Given the description of an element on the screen output the (x, y) to click on. 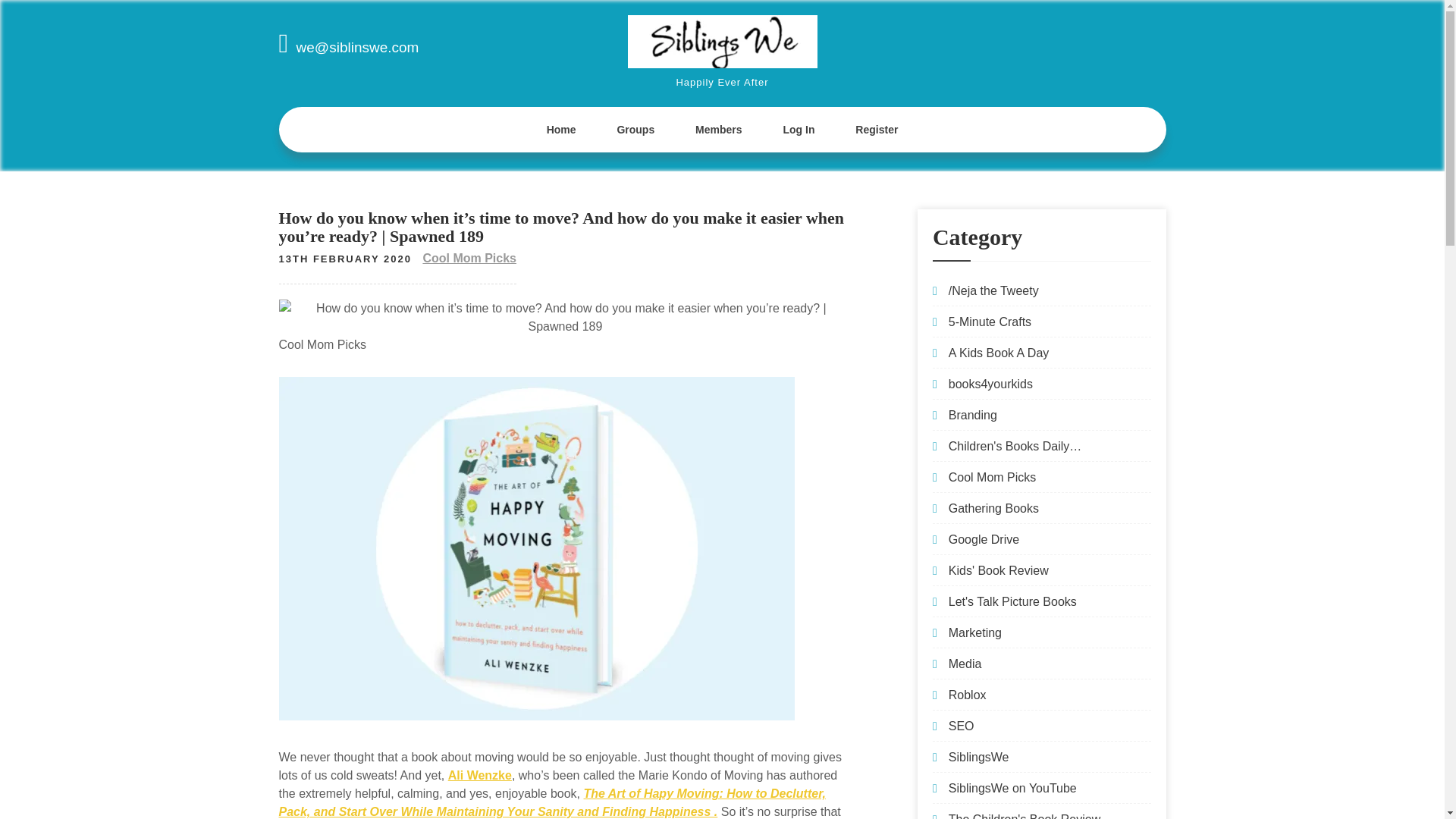
A Kids Book A Day (999, 352)
Groups (634, 129)
Kids' Book Review (998, 570)
Google Drive (984, 539)
Cool Mom Picks (469, 257)
Home (561, 129)
Cool Mom Picks (992, 477)
Members (718, 129)
Marketing (975, 632)
Gathering Books (994, 508)
Ali Wenzke (480, 775)
Log In (797, 129)
5-Minute Crafts (989, 321)
